Given the description of an element on the screen output the (x, y) to click on. 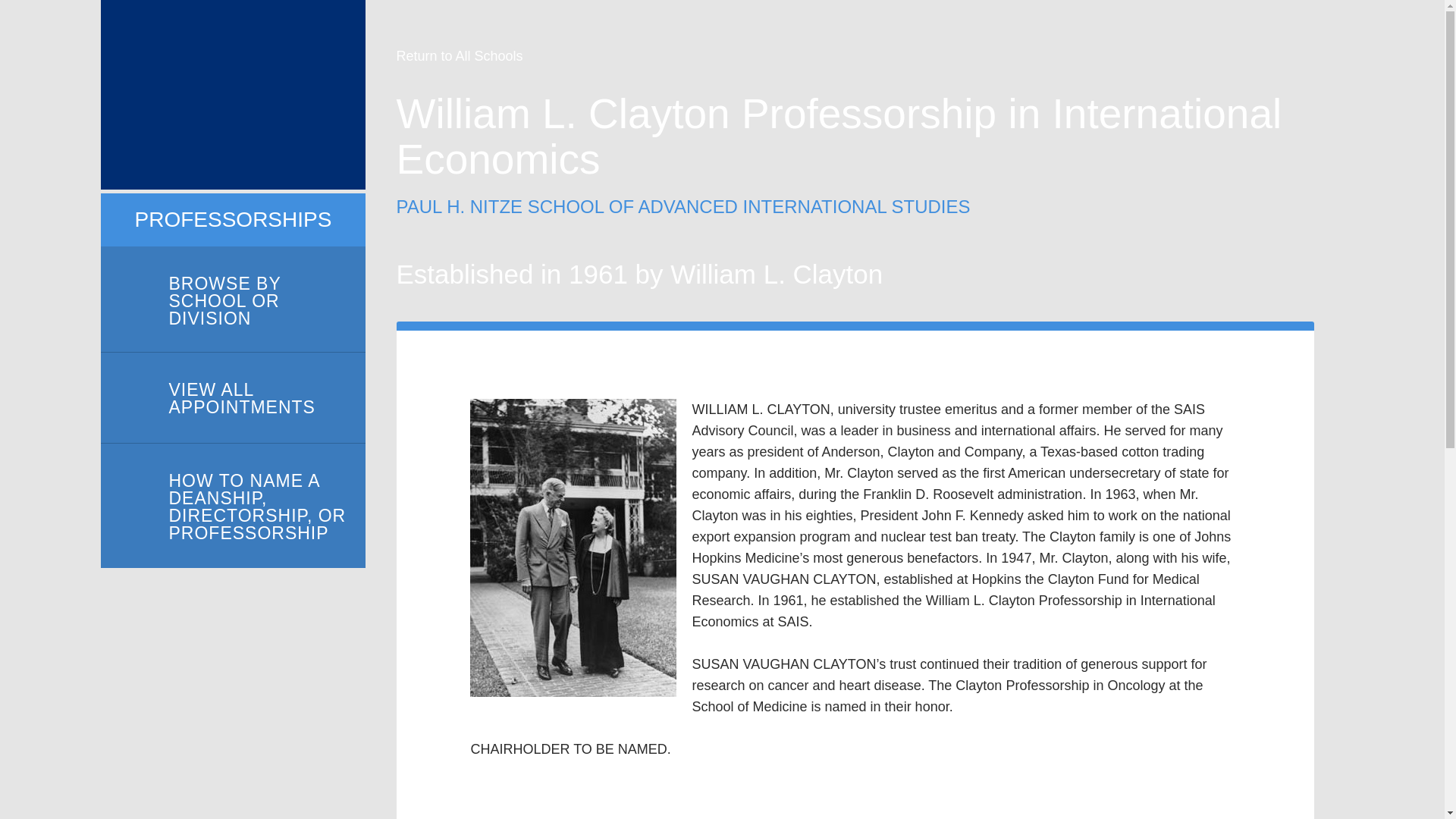
VIEW ALL APPOINTMENTS (232, 397)
HOW TO NAME A DEANSHIP, DIRECTORSHIP, OR PROFESSORSHIP (232, 505)
Return to All Schools (459, 55)
JHU Professorships (232, 94)
BROWSE BY SCHOOL OR DIVISION (232, 299)
PROFESSORSHIPS (233, 219)
PAUL H. NITZE SCHOOL OF ADVANCED INTERNATIONAL STUDIES (682, 206)
